Given the description of an element on the screen output the (x, y) to click on. 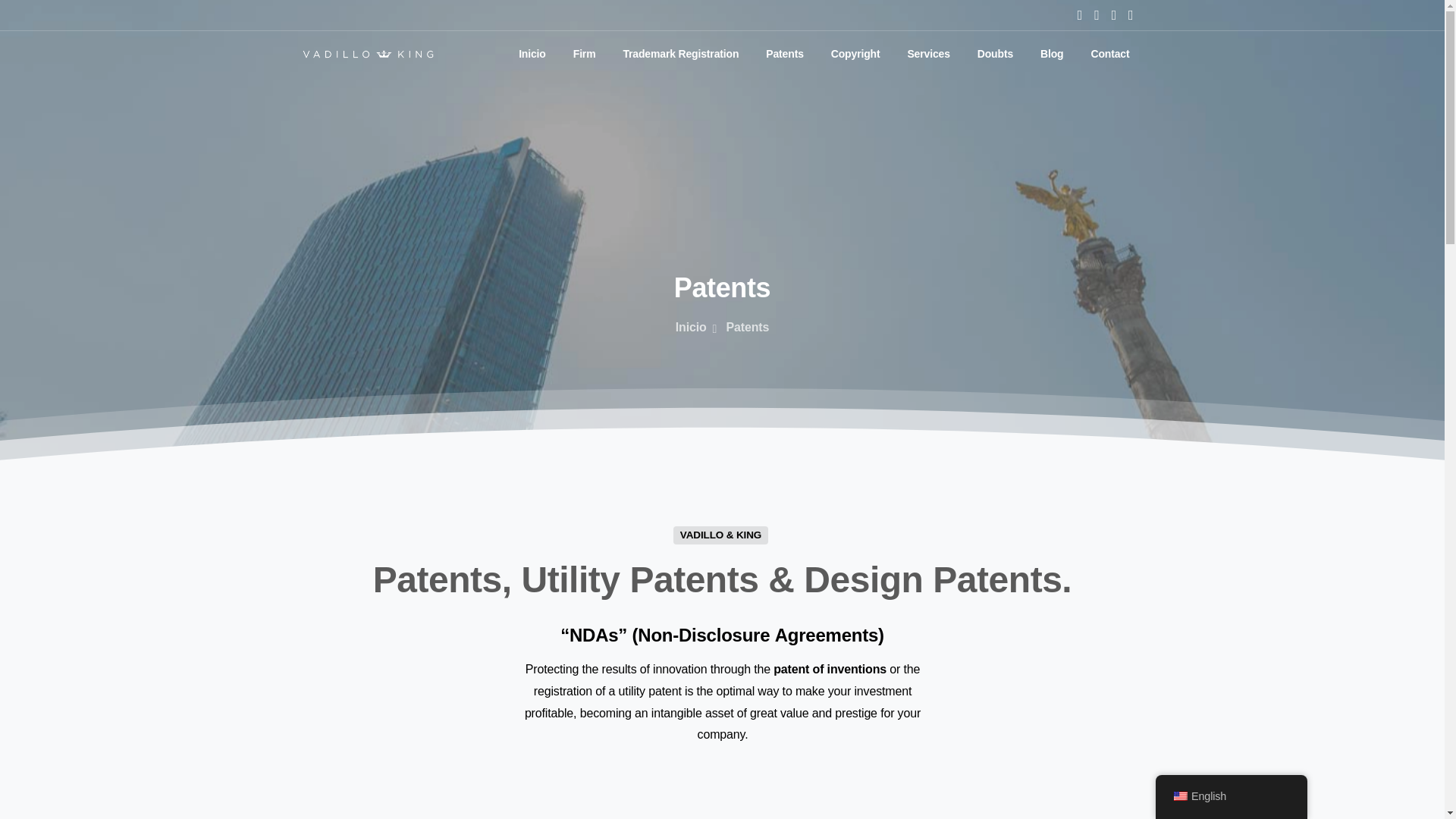
youtube (1113, 15)
Firm (584, 53)
twitter (1096, 15)
Services (928, 53)
linkedin (1130, 15)
Firm (584, 53)
Patents (784, 53)
Patents (784, 53)
Services (928, 53)
Inicio (531, 53)
